Given the description of an element on the screen output the (x, y) to click on. 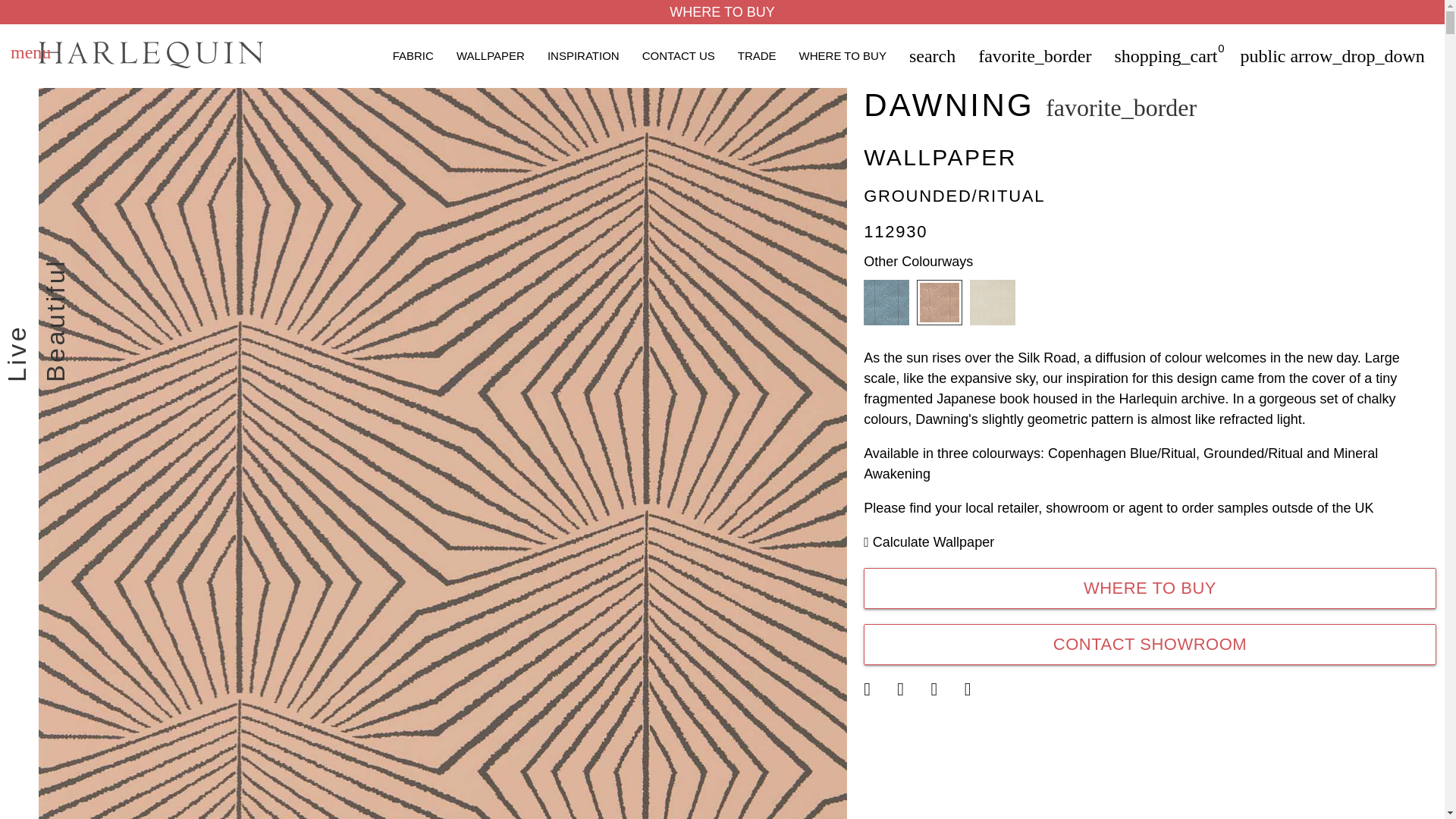
add favourite (1120, 107)
Print this page (978, 690)
WHERE TO BUY (721, 11)
Share by Email (945, 689)
menu (30, 54)
Share on X (878, 689)
Share on FaceBook (911, 689)
